Given the description of an element on the screen output the (x, y) to click on. 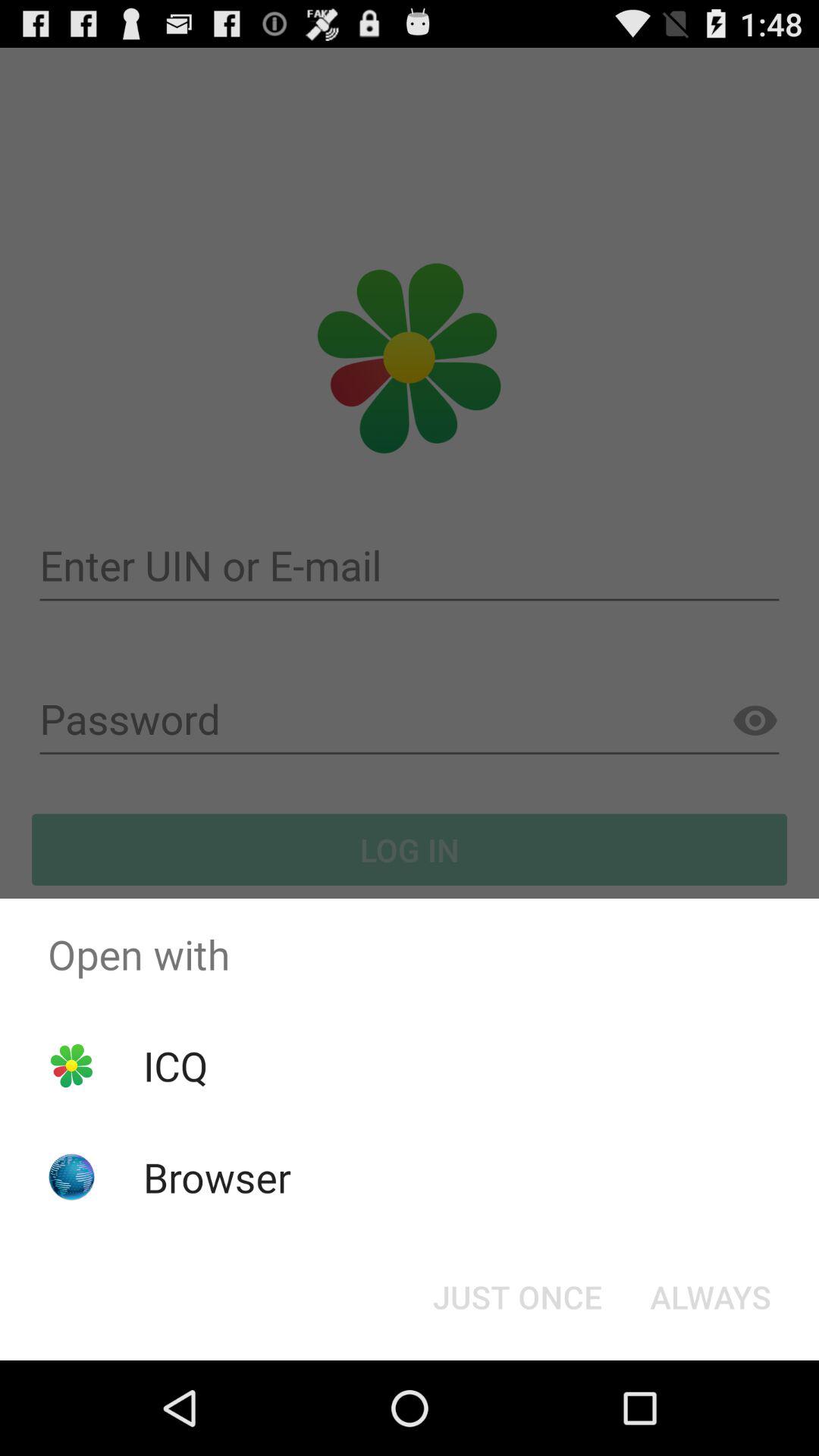
press item to the right of just once item (710, 1296)
